Given the description of an element on the screen output the (x, y) to click on. 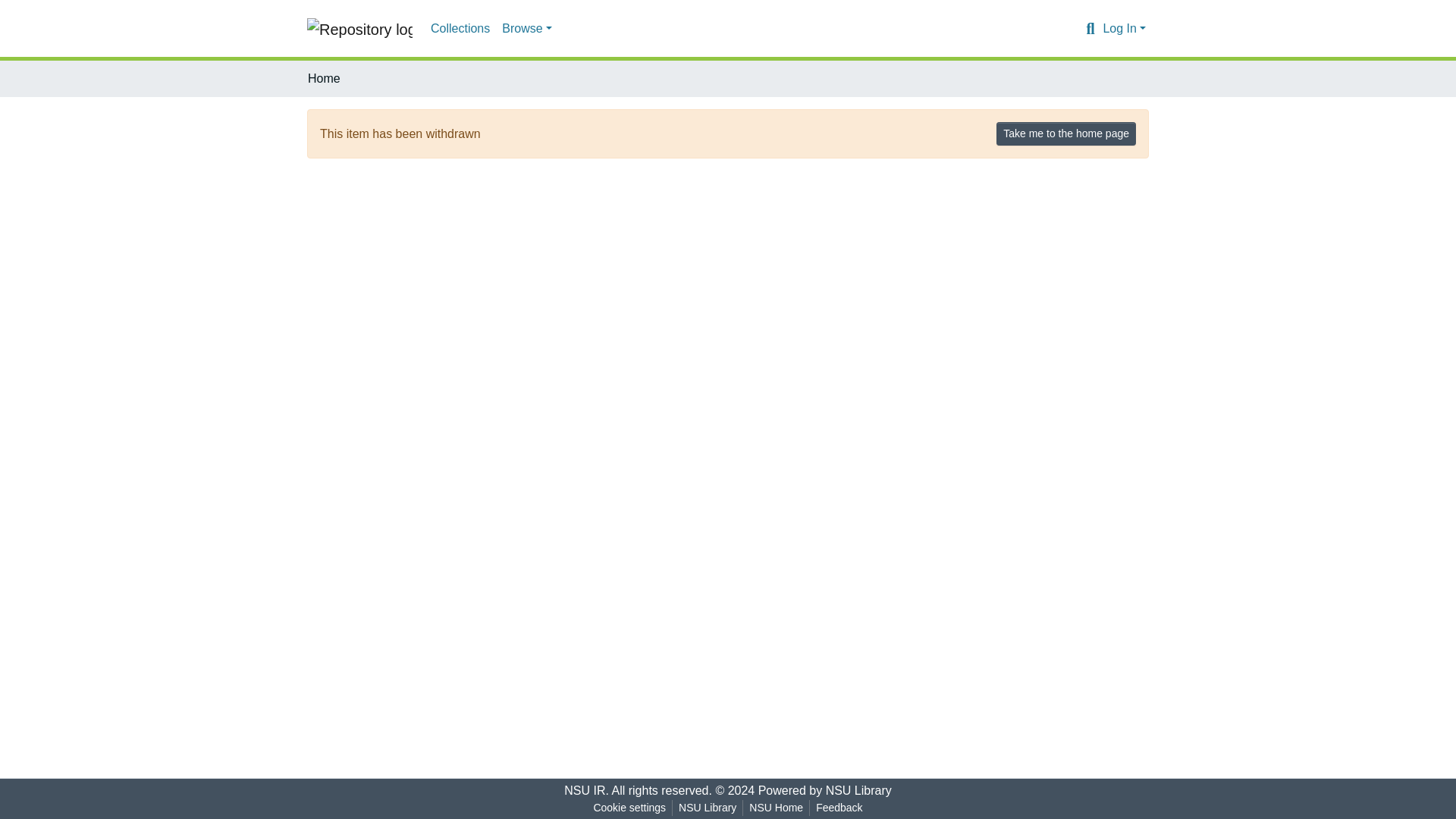
Search (1089, 28)
NSU Home (775, 807)
NSU Library (707, 807)
Take me to the home page (1065, 133)
Collections (460, 28)
Log In (1123, 28)
NSU IR. (586, 789)
Cookie settings (628, 807)
Browse (526, 28)
Feedback (838, 807)
Powered by NSU Library (824, 789)
Collections (460, 28)
